Given the description of an element on the screen output the (x, y) to click on. 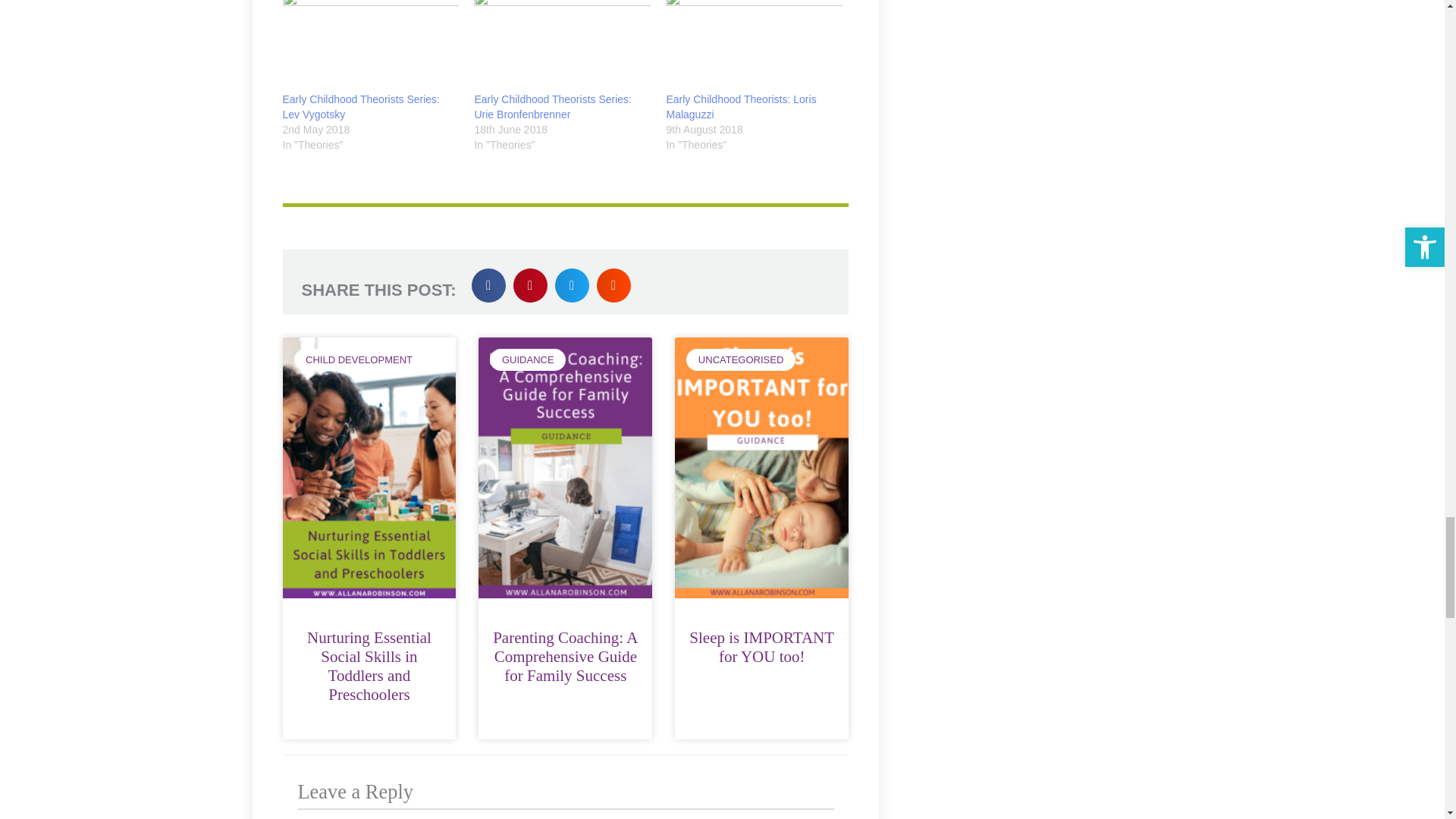
Early Childhood Theorists Series: Lev Vygotsky (370, 45)
Early Childhood Theorists Series: Lev Vygotsky (360, 106)
Early Childhood Theorists: Loris Malaguzzi (740, 106)
Early Childhood Theorists Series: Urie Bronfenbrenner (562, 45)
Early Childhood Theorists Series: Urie Bronfenbrenner (552, 106)
Early Childhood Theorists: Loris Malaguzzi (754, 45)
